Given the description of an element on the screen output the (x, y) to click on. 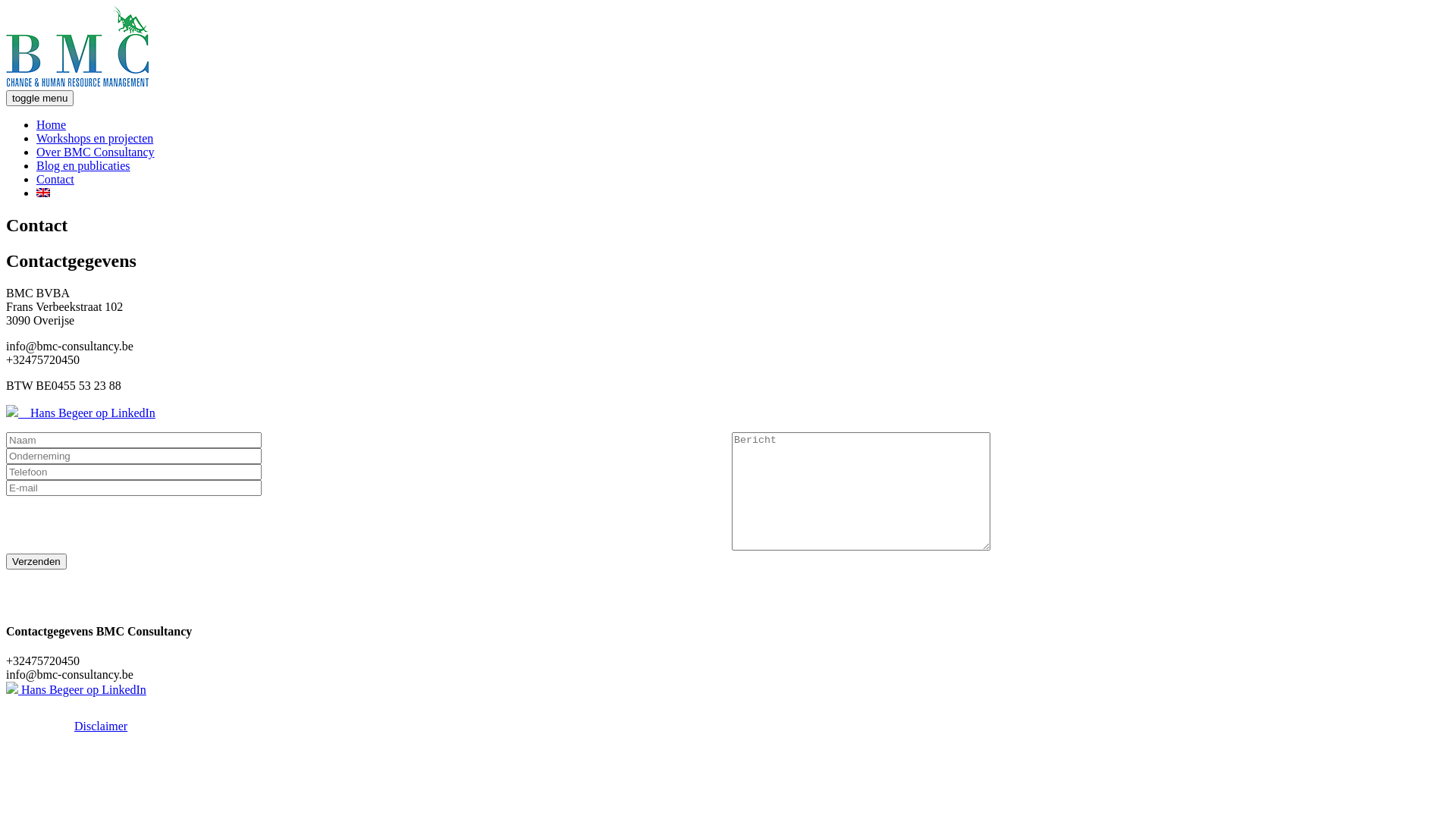
Home Element type: text (50, 124)
Verzenden Element type: text (36, 561)
Over BMC Consultancy Element type: text (95, 151)
    Hans Begeer op LinkedIn Element type: text (80, 412)
English Element type: hover (43, 192)
toggle menu Element type: text (39, 98)
Disclaimer Element type: text (100, 725)
Workshops en projecten Element type: text (94, 137)
Blog en publicaties Element type: text (83, 165)
Contact Element type: text (55, 178)
Hans Begeer op LinkedIn Element type: text (76, 689)
